Given the description of an element on the screen output the (x, y) to click on. 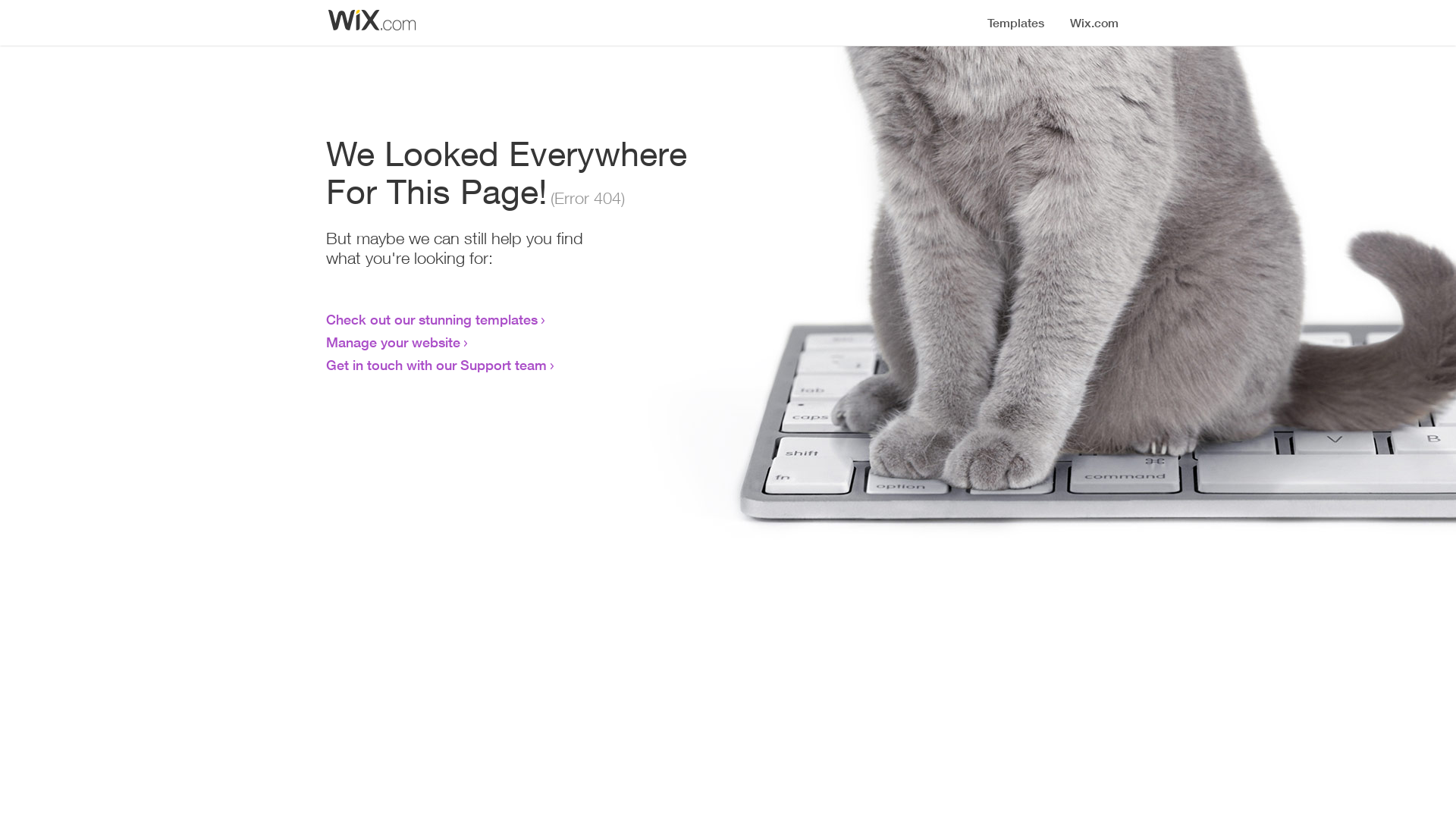
Check out our stunning templates Element type: text (431, 318)
Get in touch with our Support team Element type: text (436, 364)
Manage your website Element type: text (393, 341)
